Given the description of an element on the screen output the (x, y) to click on. 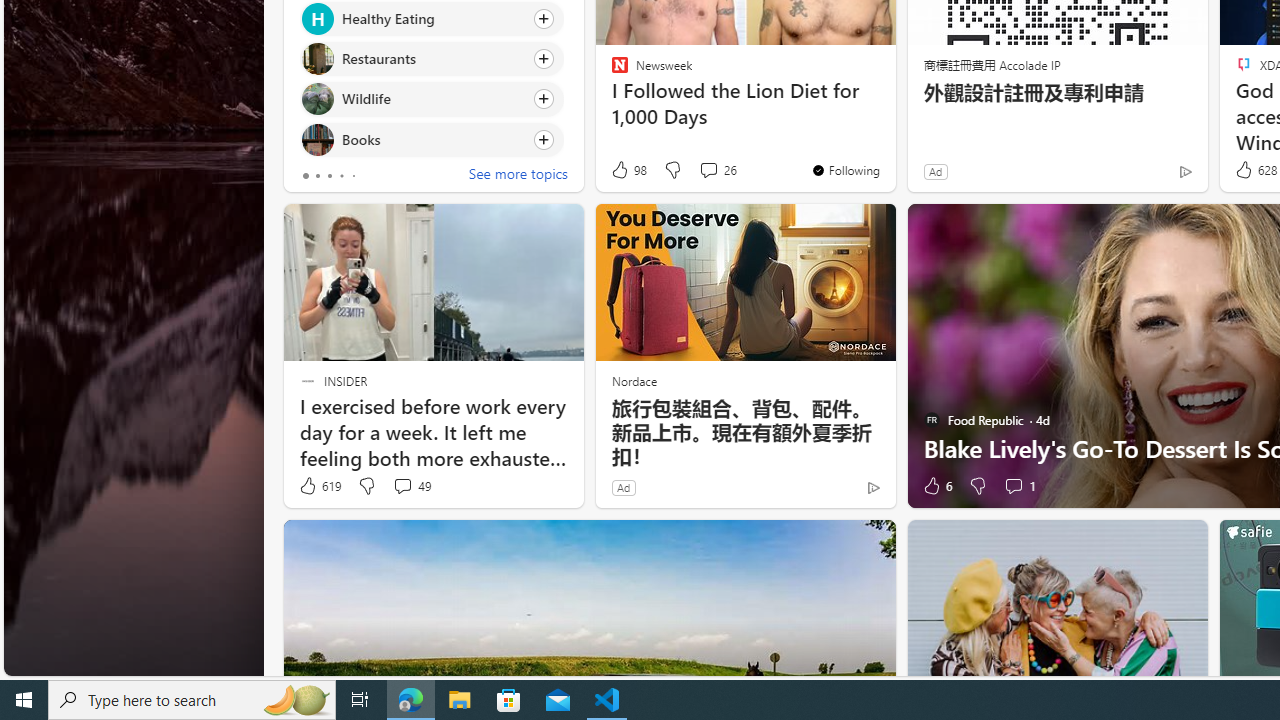
tab-3 (341, 175)
619 Like (319, 485)
Restaurants (317, 59)
tab-4 (352, 175)
View comments 26 Comment (708, 169)
Wildlife (317, 98)
Books (317, 139)
See more topics (518, 175)
View comments 49 Comment (402, 485)
Click to follow topic Healthy Eating (431, 18)
6 Like (936, 485)
